Given the description of an element on the screen output the (x, y) to click on. 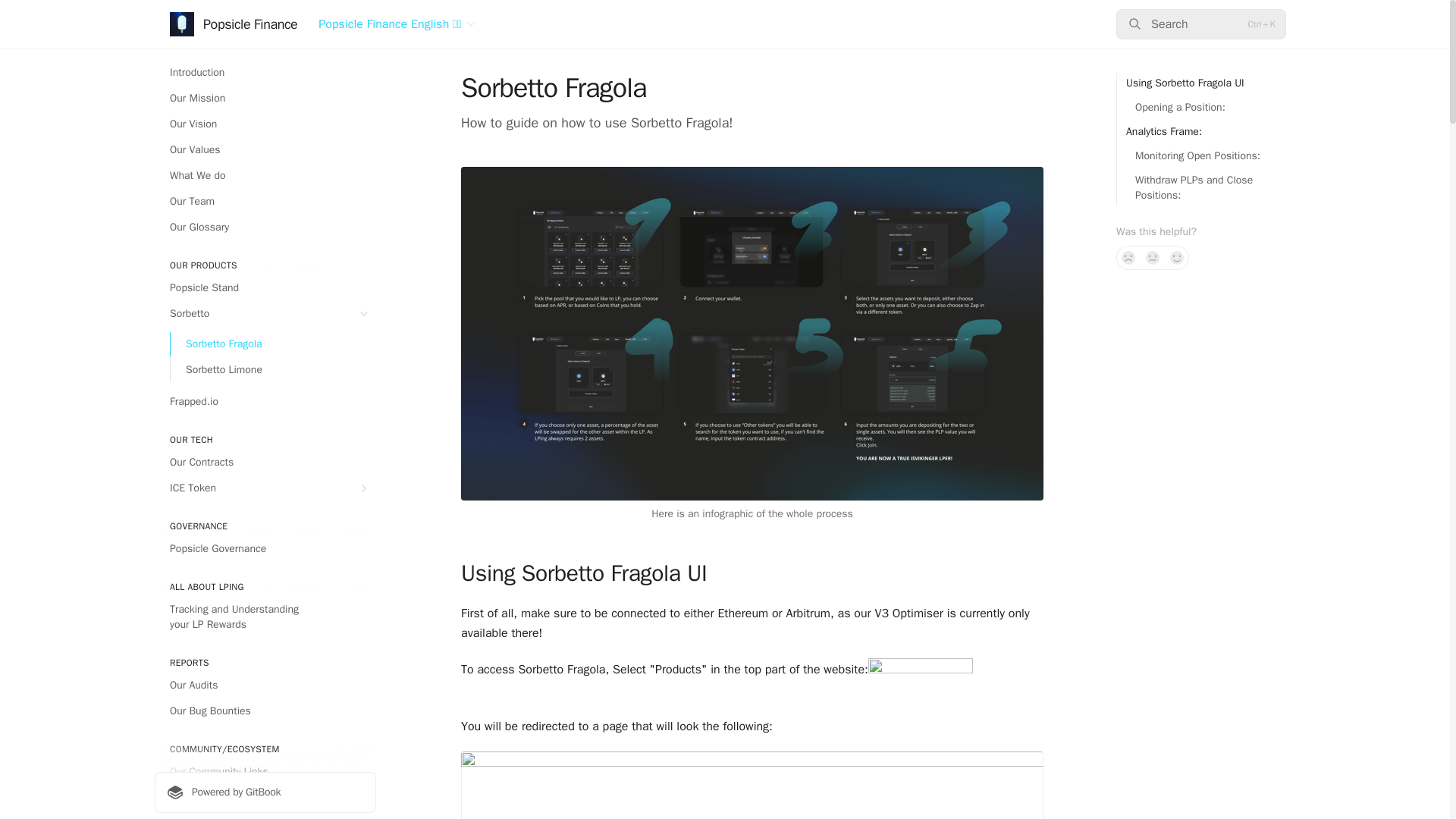
Our Community Links (264, 771)
Popsicle Governance (264, 549)
Our Bug Bounties (264, 711)
Sorbetto Limone (272, 369)
Popsicle Stand (264, 288)
Not sure (1152, 257)
ICE Token (264, 487)
Yes, it was! (1176, 257)
Using Sorbetto Fragola UI (1180, 83)
Popsicle Finance (233, 24)
Our Partners (264, 797)
Powered by GitBook (264, 792)
Frapped.io (264, 401)
Our Team (264, 201)
Our Values (264, 150)
